Given the description of an element on the screen output the (x, y) to click on. 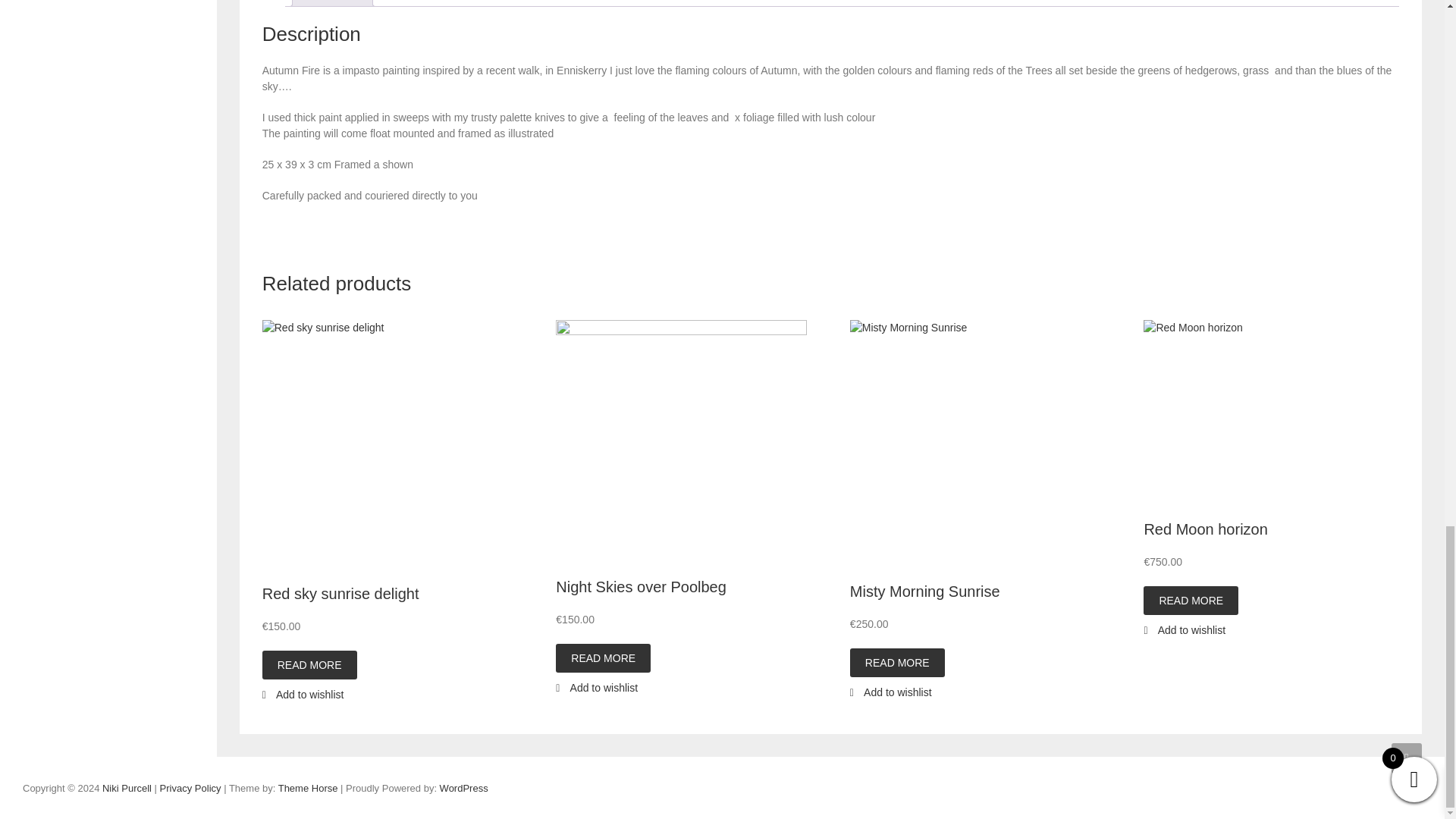
Add to wishlist (302, 694)
Description (331, 2)
WordPress (463, 787)
Add to wishlist (596, 687)
READ MORE (603, 657)
Niki Purcell (126, 787)
READ MORE (309, 664)
Theme Horse (307, 787)
